Given the description of an element on the screen output the (x, y) to click on. 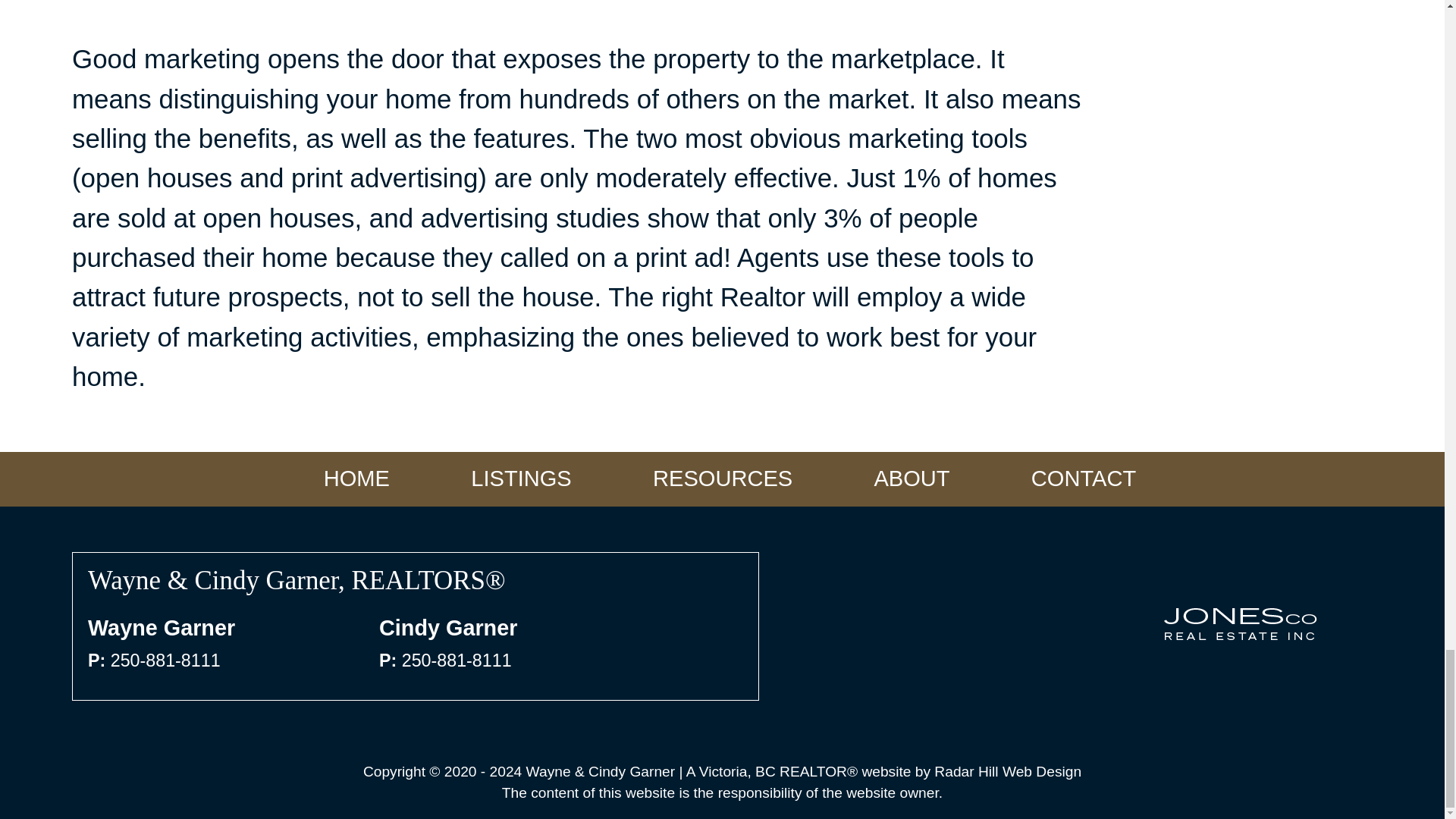
HOME (356, 479)
LISTINGS (521, 479)
ABOUT (911, 479)
CONTACT (1083, 479)
250-881-8111 (456, 660)
RESOURCES (722, 479)
250-881-8111 (165, 660)
